Given the description of an element on the screen output the (x, y) to click on. 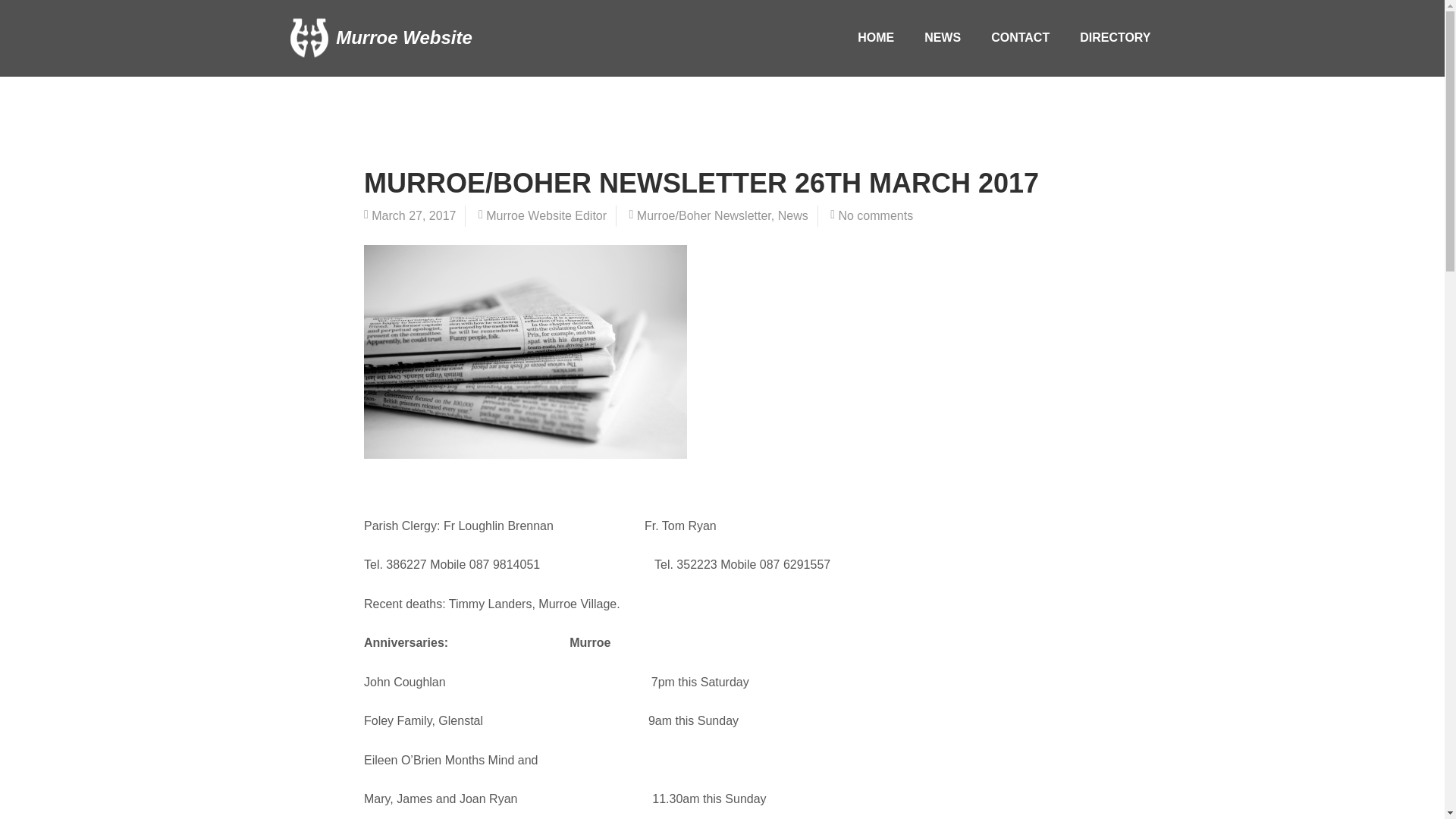
Murroe Website (380, 38)
No comments (875, 215)
Murroe Website Editor (546, 215)
CONTACT (1019, 38)
DIRECTORY (1115, 38)
News (792, 215)
